Given the description of an element on the screen output the (x, y) to click on. 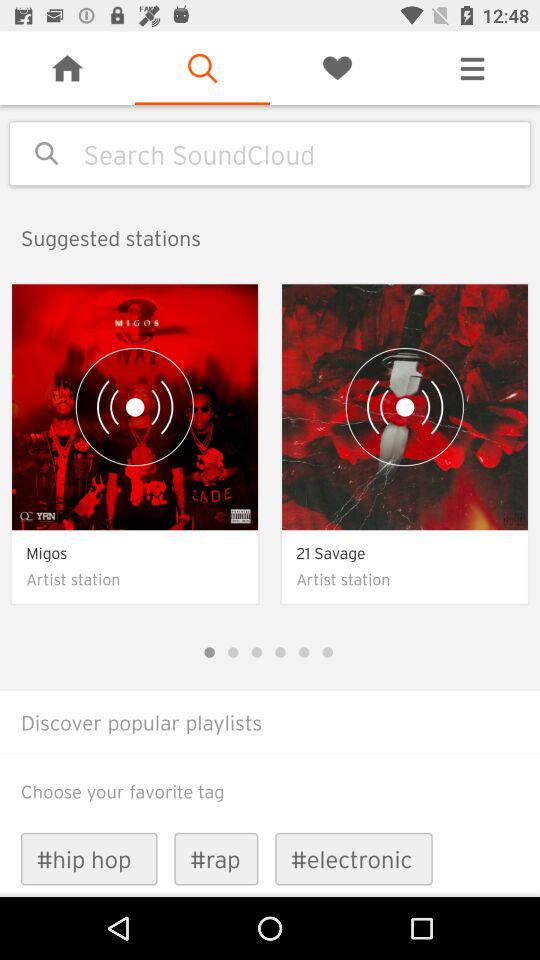
flip until the #electronic item (353, 858)
